Given the description of an element on the screen output the (x, y) to click on. 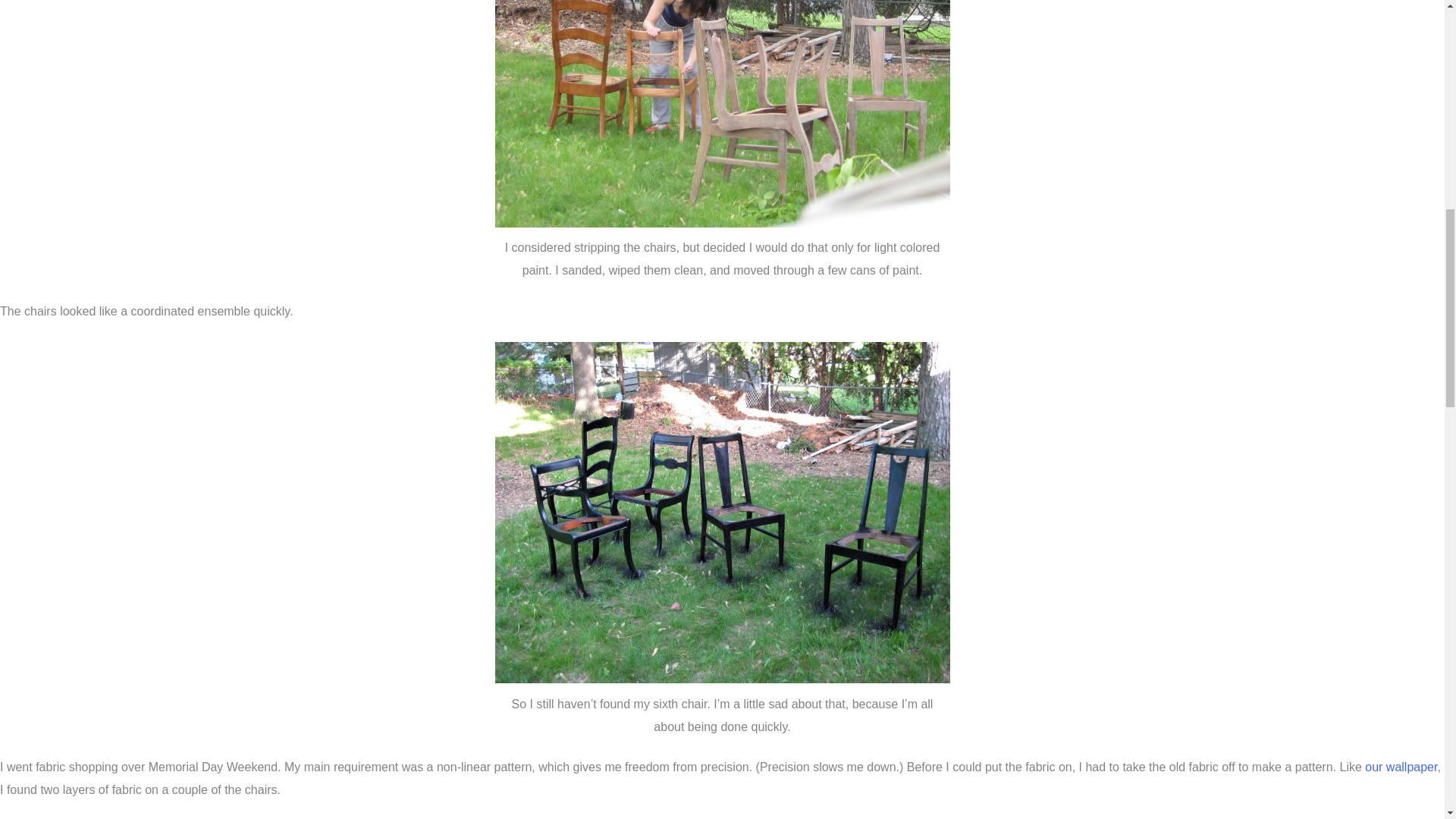
our wallpaper (1401, 766)
